Given the description of an element on the screen output the (x, y) to click on. 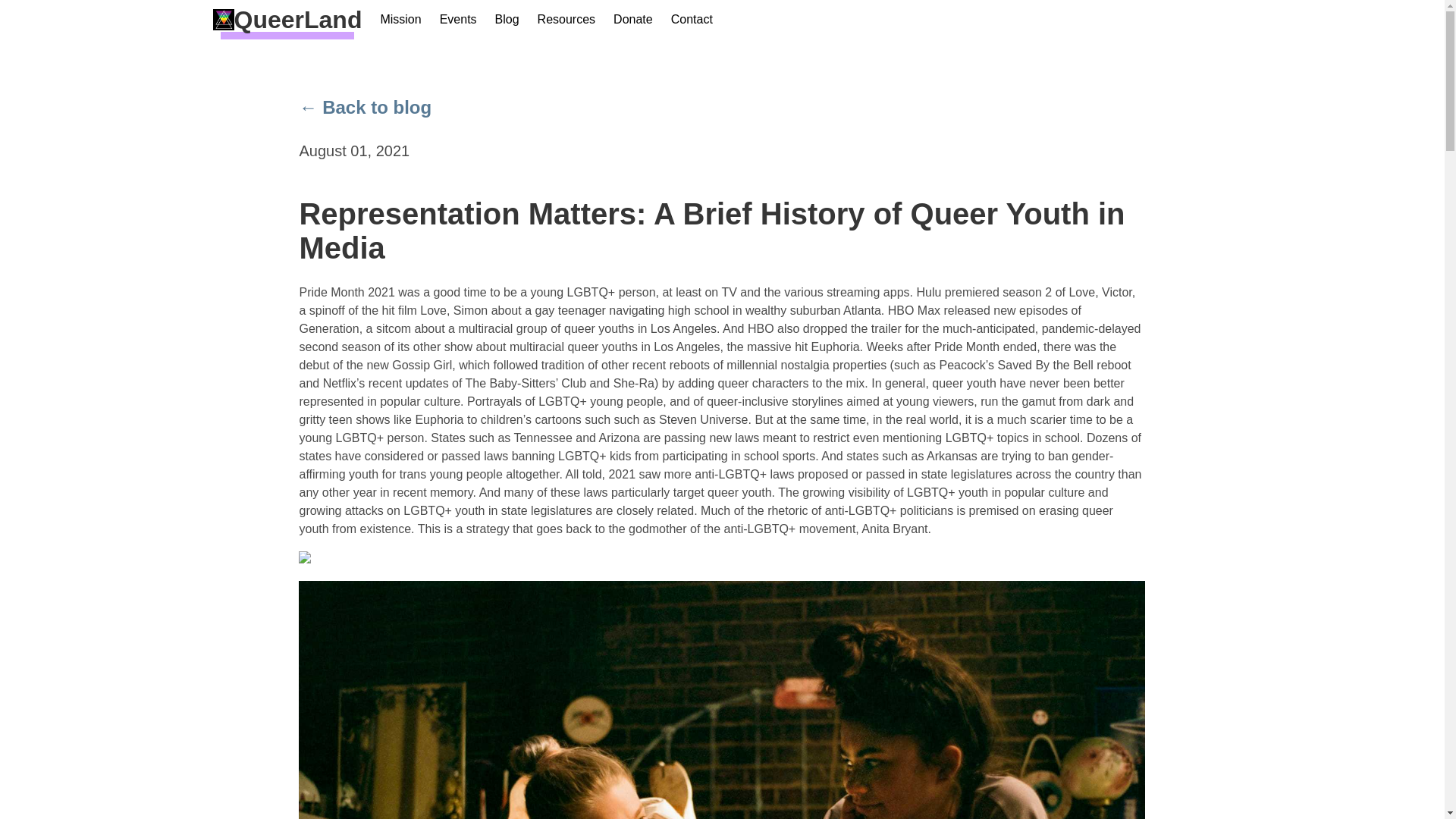
Contact (692, 19)
Mission (400, 19)
Donate (633, 19)
Events (458, 19)
Logo (287, 19)
Blog (507, 19)
QueerLand (287, 19)
Resources (566, 19)
